Given the description of an element on the screen output the (x, y) to click on. 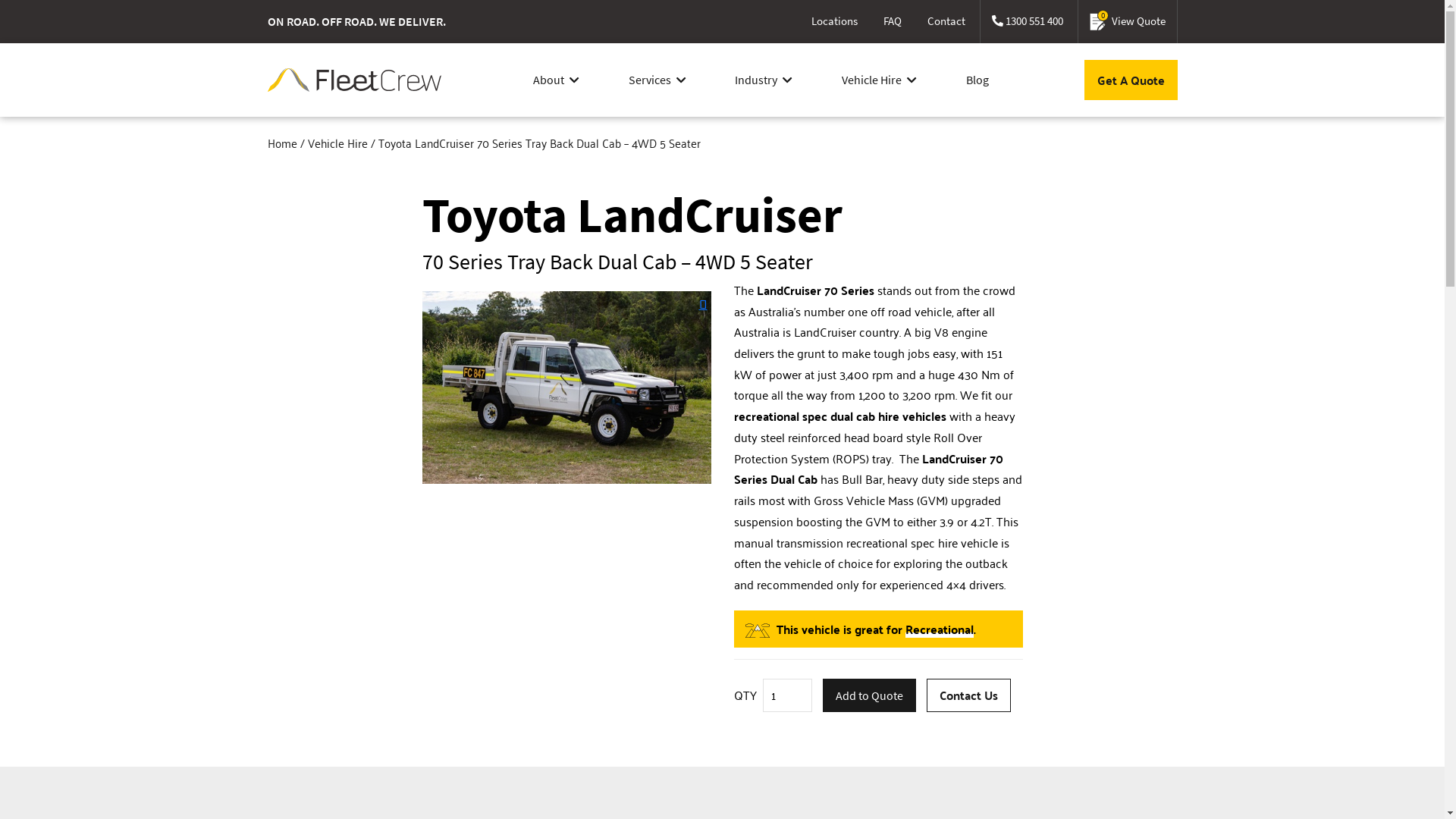
Contact Us Element type: text (968, 695)
Industry Element type: text (763, 79)
Qty Element type: hover (787, 695)
Add to Quote Element type: text (868, 695)
1300 551 400 Element type: text (1026, 21)
Vehicle Hire Element type: text (878, 79)
Vehicle Hire Element type: text (337, 142)
About Element type: text (556, 79)
Get A Quote Element type: text (1130, 79)
Services Element type: text (657, 79)
Locations Element type: text (833, 21)
FAQ Element type: text (892, 21)
0
View Quote Element type: text (1126, 21)
Contact Element type: text (946, 21)
Blog Element type: text (977, 79)
Home Element type: text (281, 142)
